Given the description of an element on the screen output the (x, y) to click on. 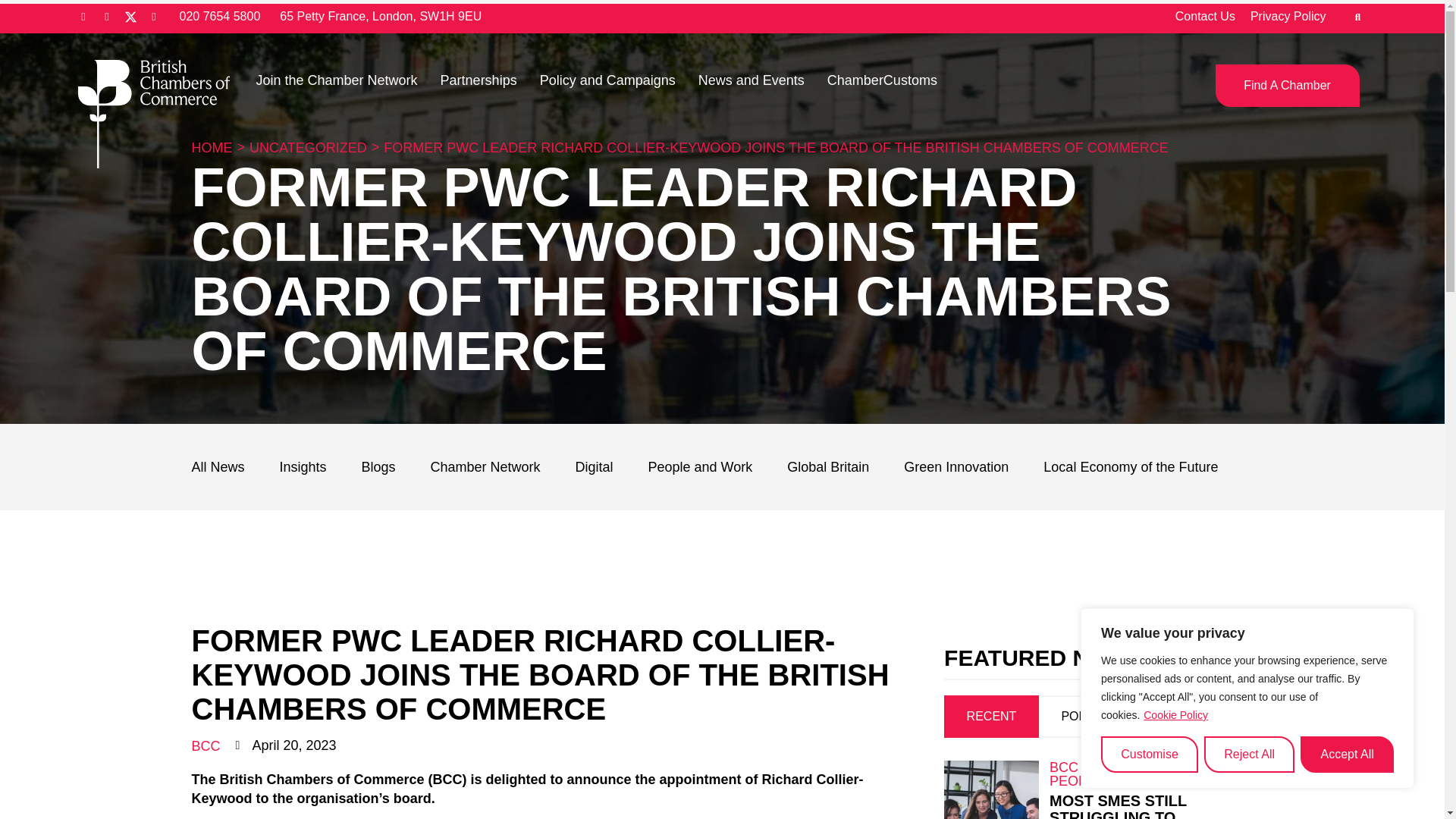
Privacy Policy (1288, 16)
Uncategorized (307, 147)
Cookie Policy (1175, 714)
Customise (1149, 754)
Contact Us (1204, 16)
Home (210, 147)
Accept All (1346, 754)
Reject All (1249, 754)
